Given the description of an element on the screen output the (x, y) to click on. 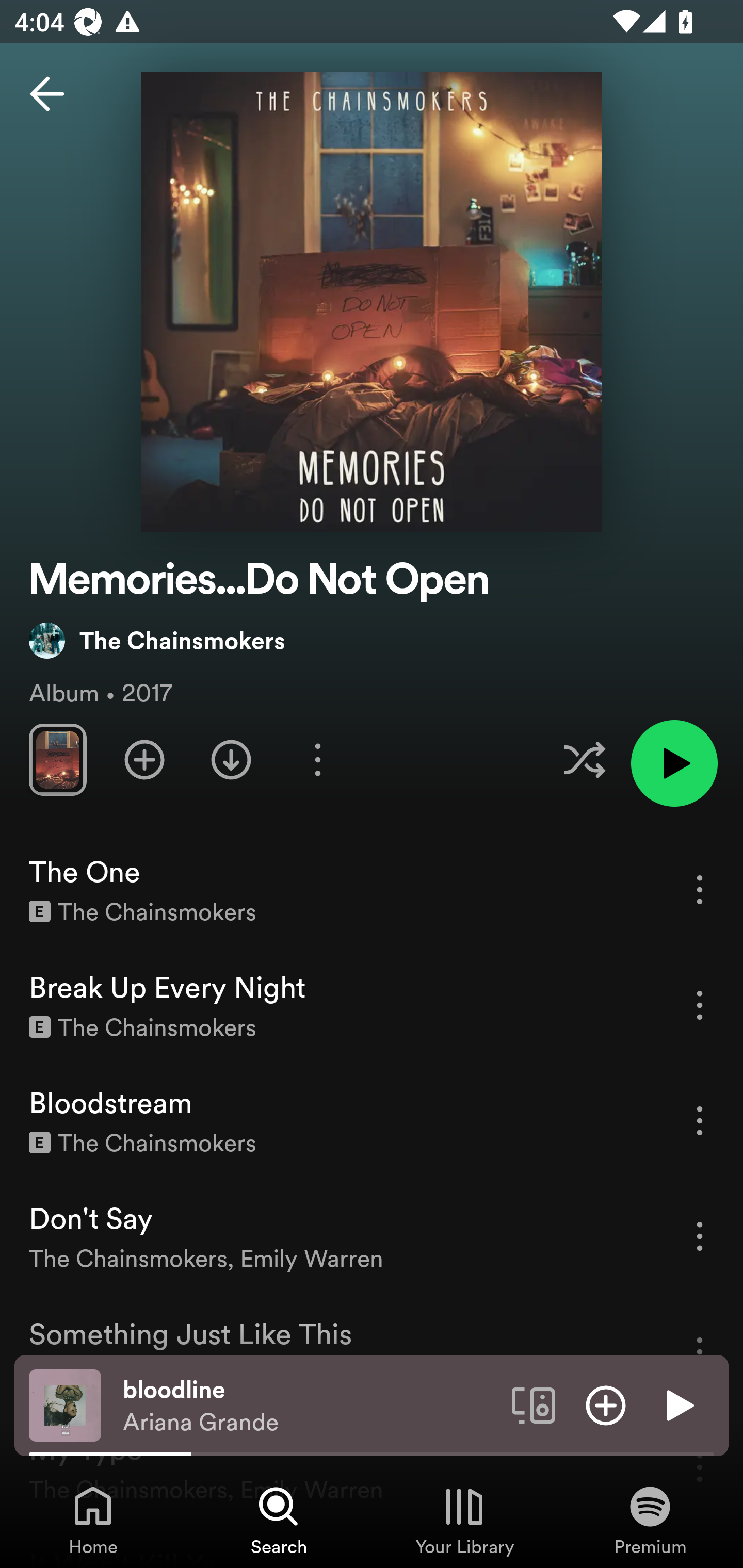
Back (46, 93)
The Chainsmokers (156, 640)
Swipe through previews of tracks from this album. (57, 759)
Add playlist to Your Library (144, 759)
Download (230, 759)
More options for playlist Memories...Do Not Open (317, 759)
Enable shuffle for this playlist (583, 759)
Play playlist (674, 763)
More options for song The One (699, 889)
More options for song Break Up Every Night (699, 1004)
More options for song Bloodstream (699, 1120)
More options for song Don't Say (699, 1236)
bloodline Ariana Grande (309, 1405)
The cover art of the currently playing track (64, 1404)
Connect to a device. Opens the devices menu (533, 1404)
Add item (605, 1404)
Play (677, 1404)
Home, Tab 1 of 4 Home Home (92, 1519)
Search, Tab 2 of 4 Search Search (278, 1519)
Your Library, Tab 3 of 4 Your Library Your Library (464, 1519)
Premium, Tab 4 of 4 Premium Premium (650, 1519)
